Given the description of an element on the screen output the (x, y) to click on. 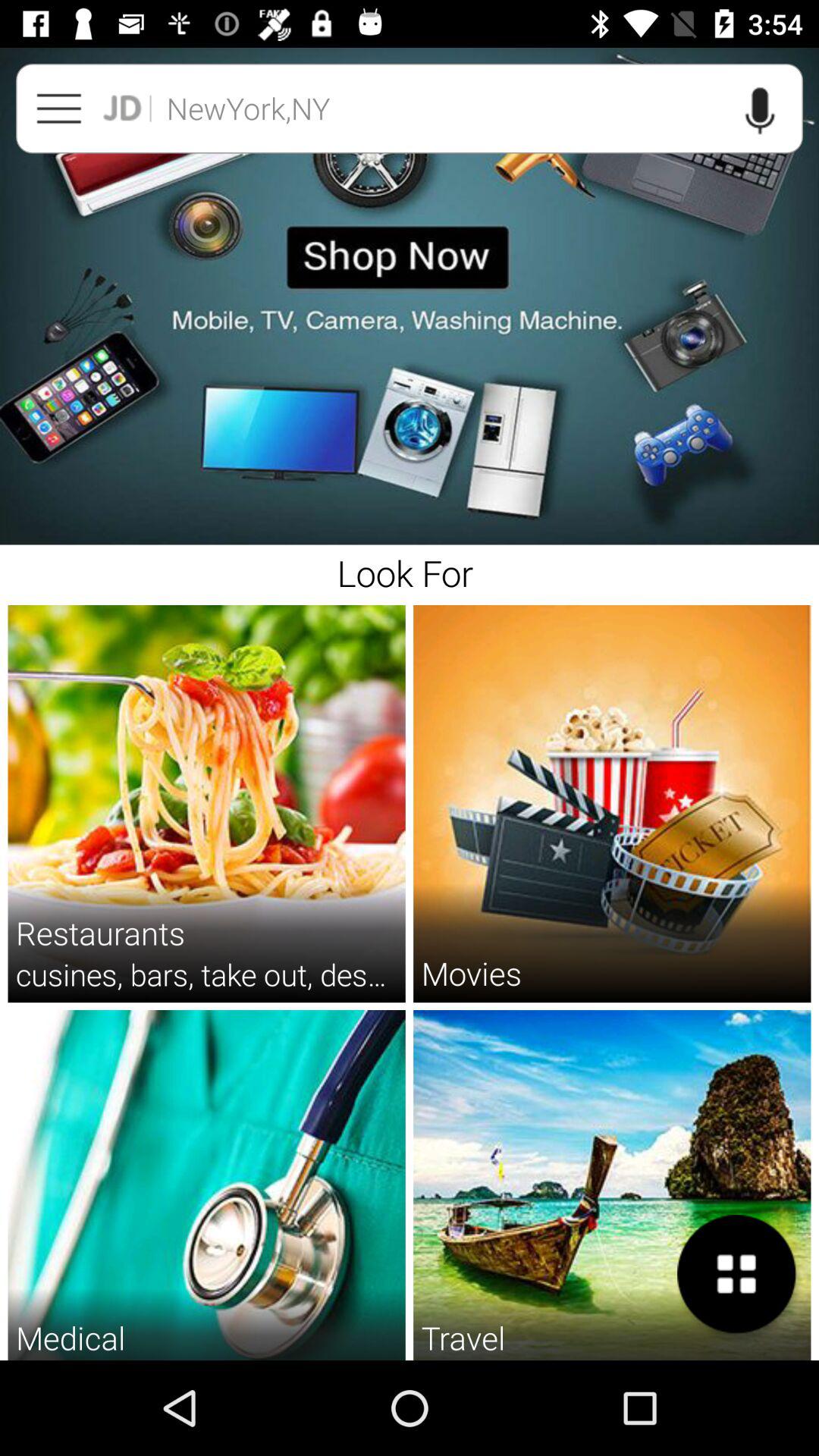
scroll until flights hotels cruises (612, 1359)
